Given the description of an element on the screen output the (x, y) to click on. 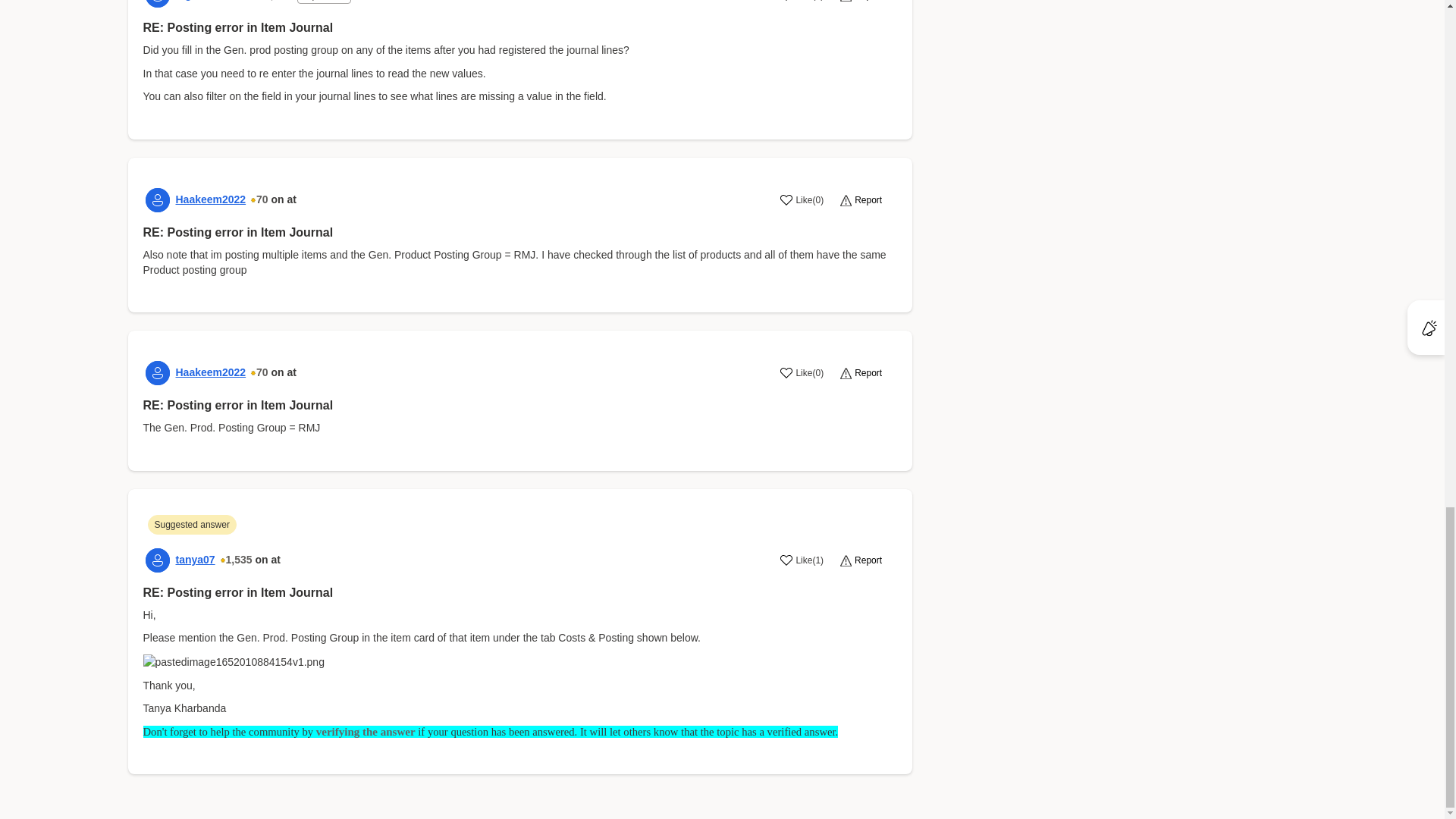
Haakeem2022 (211, 372)
Haakeem2022 (157, 372)
Haakeem2022 (157, 200)
Haakeem2022 (211, 199)
Inge M. Bruvik (157, 3)
